Given the description of an element on the screen output the (x, y) to click on. 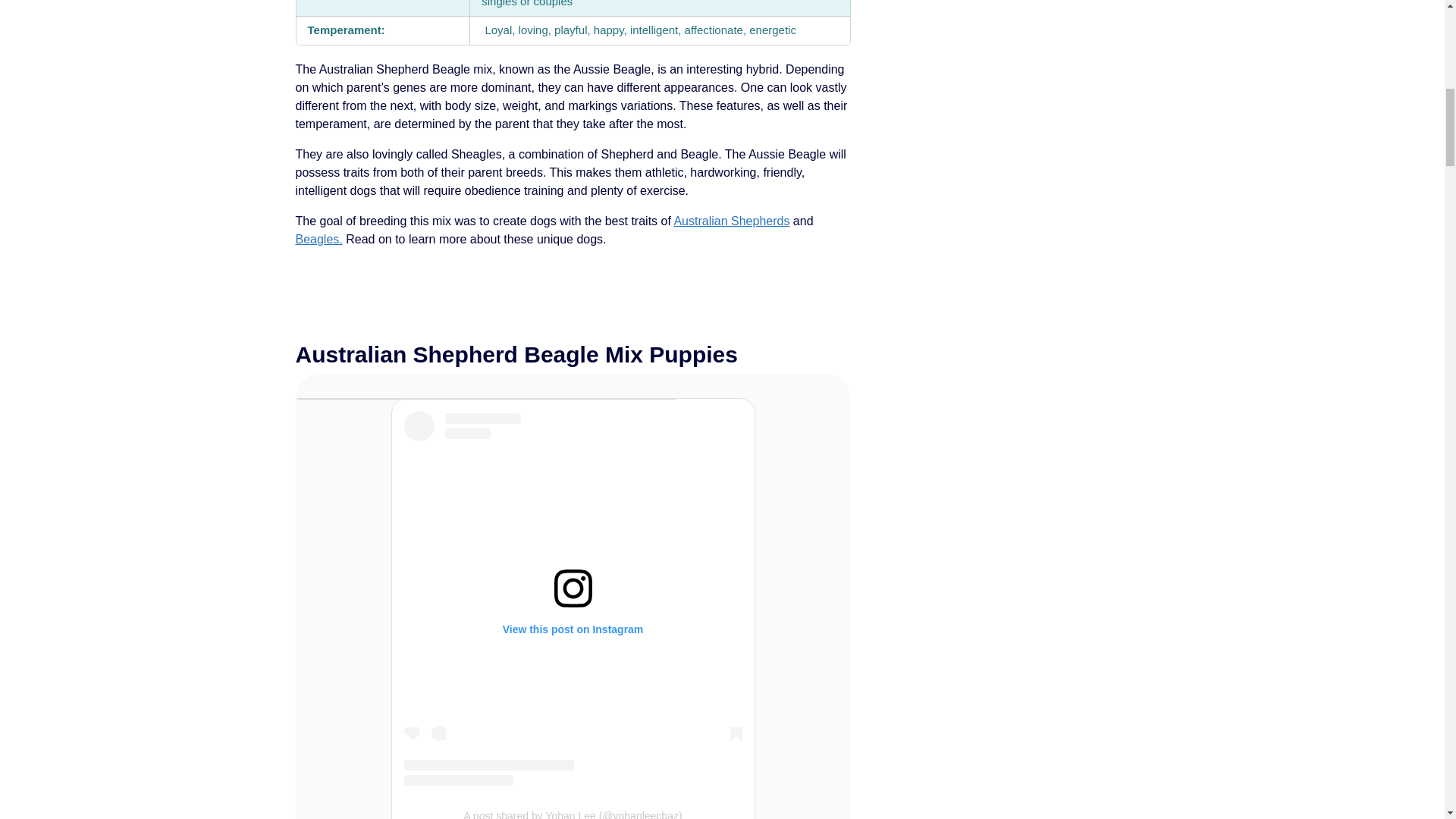
Australian Shepherds (730, 220)
View this post on Instagram (572, 598)
Beagles. (318, 238)
